Given the description of an element on the screen output the (x, y) to click on. 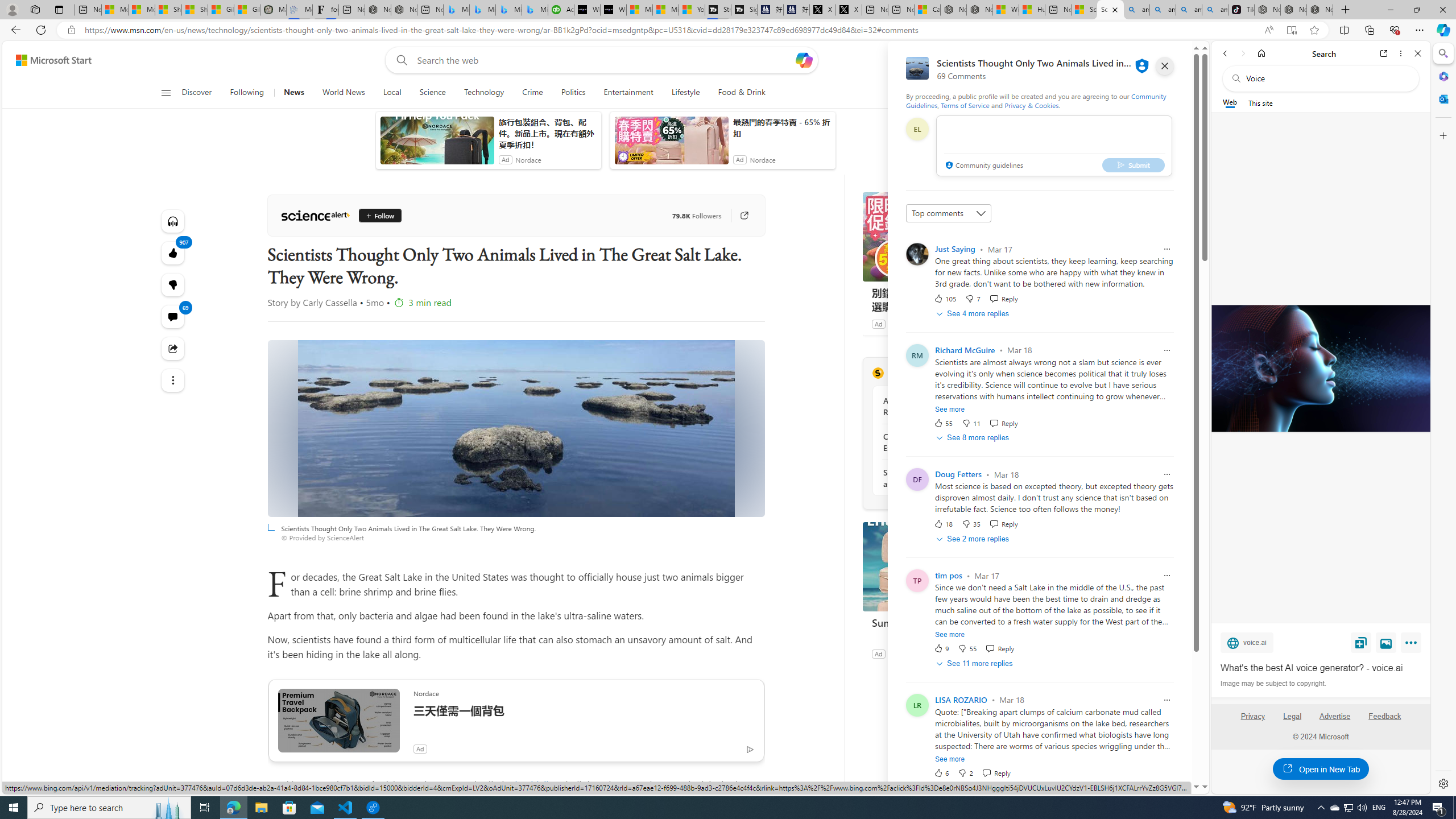
Privacy (1252, 720)
Entertainment (627, 92)
Visit ScienceAlert website (1018, 372)
105 Like (944, 298)
Local (392, 92)
Huge shark washes ashore at New York City beach | Watch (1031, 9)
Technology (483, 92)
Gilma and Hector both pose tropical trouble for Hawaii (246, 9)
TikTok (1241, 9)
Close (1417, 53)
